Given the description of an element on the screen output the (x, y) to click on. 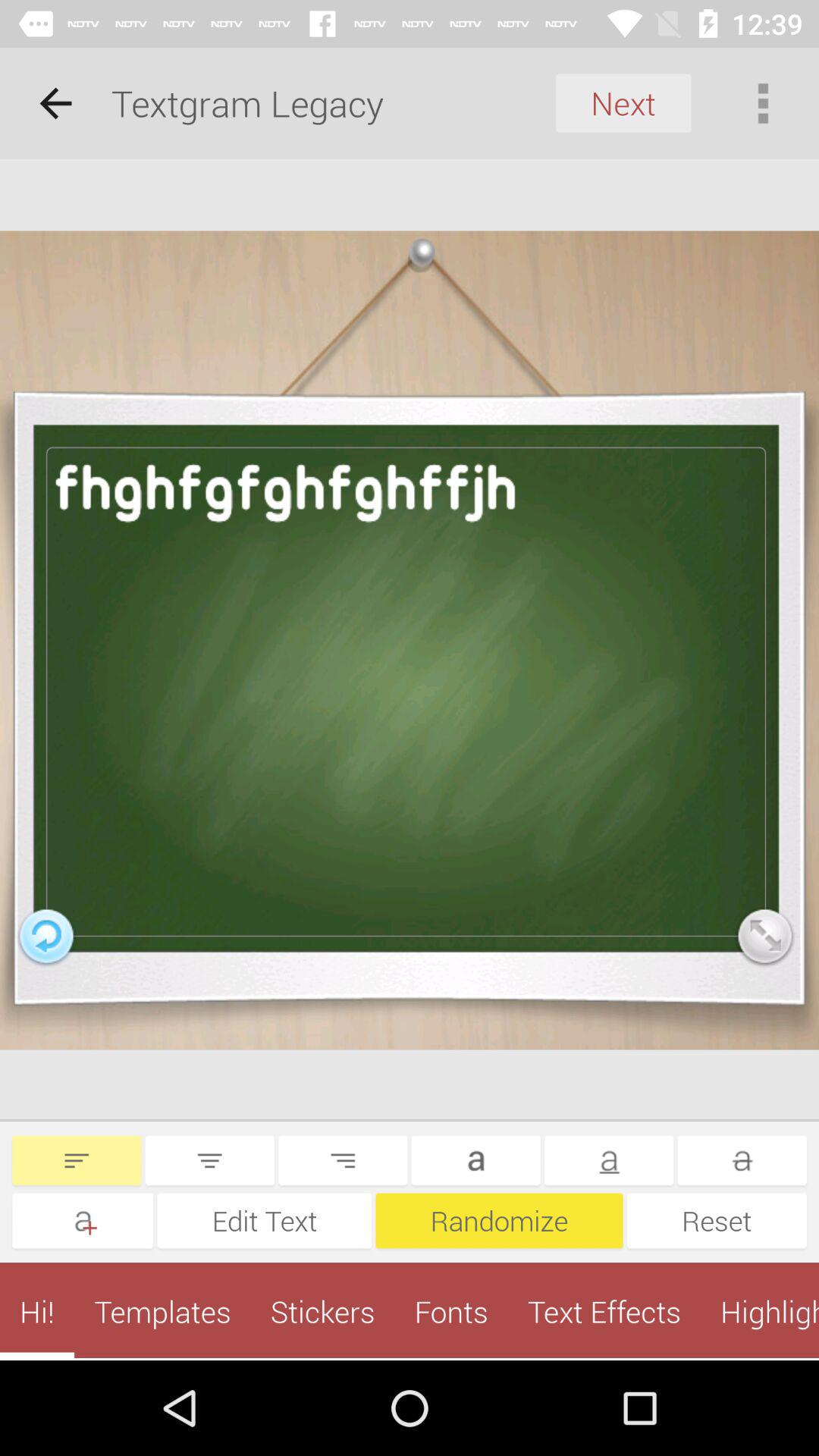
left align the text (76, 1160)
